Given the description of an element on the screen output the (x, y) to click on. 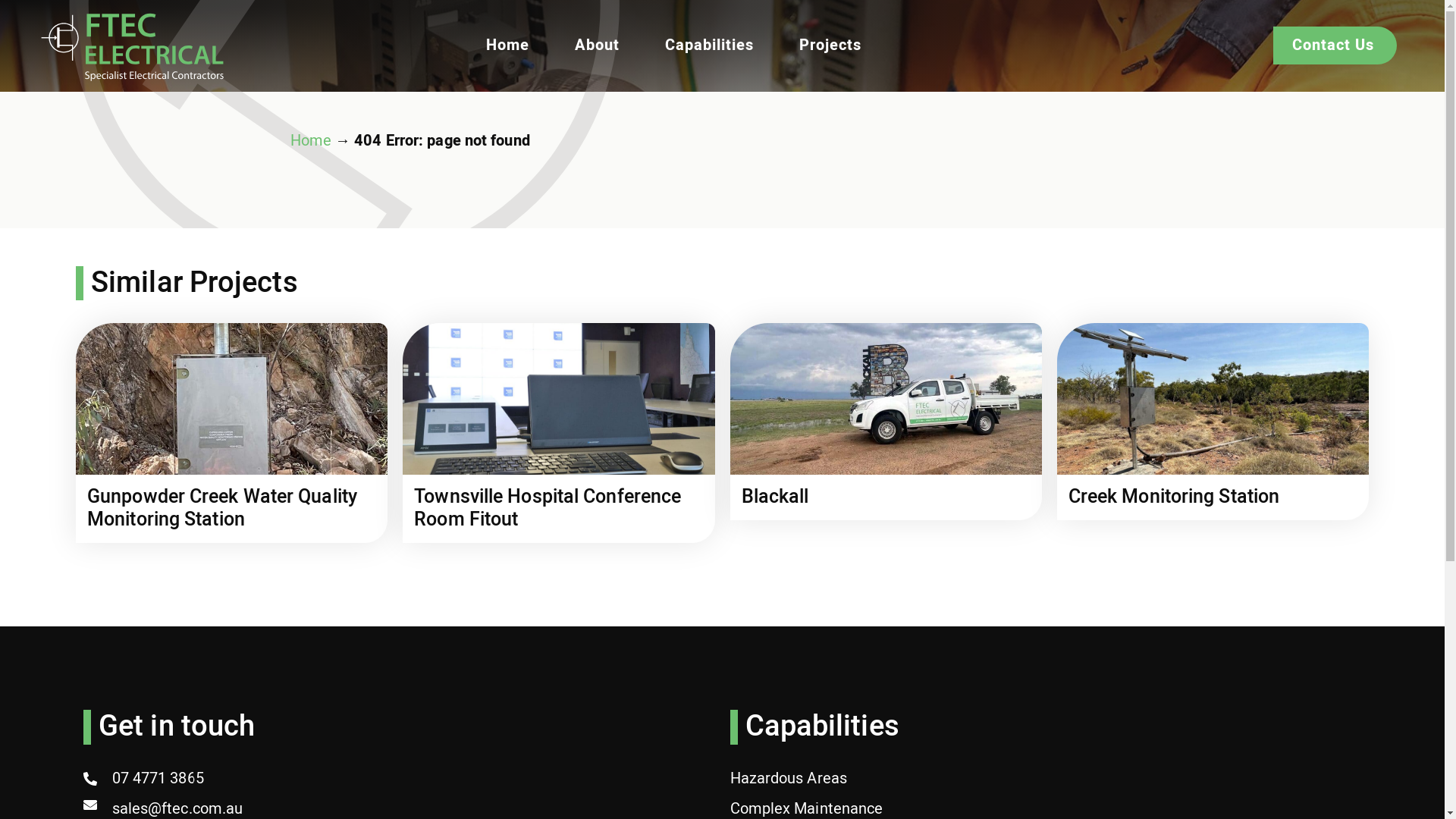
Townsville Hospital Conference Room Fitout Element type: text (547, 508)
Home Element type: text (309, 140)
Projects Element type: text (830, 45)
Contact Us Element type: text (1334, 45)
Blackall Element type: text (775, 497)
Capabilities Element type: text (709, 45)
Home Element type: text (507, 45)
Gunpowder Creek Water Quality Monitoring Station Element type: text (222, 508)
Creek Monitoring Station Element type: text (1173, 497)
About Element type: text (596, 45)
07 4771 3865 Element type: text (397, 778)
